Given the description of an element on the screen output the (x, y) to click on. 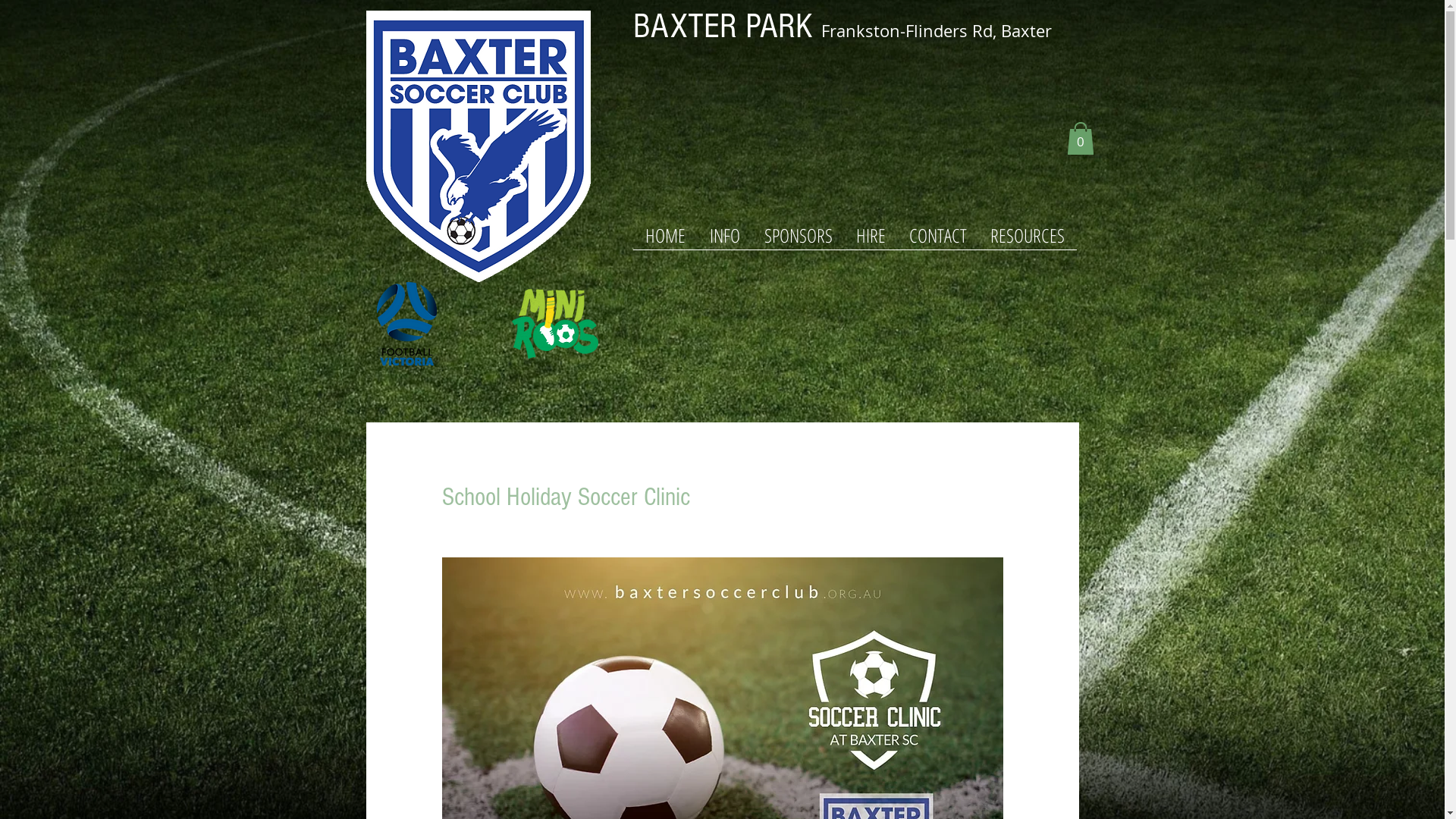
INFO Element type: text (724, 239)
HOME Element type: text (664, 239)
0 Element type: text (1079, 138)
Google Maps Element type: hover (854, 127)
HIRE Element type: text (870, 239)
RESOURCES Element type: text (1027, 239)
CONTACT Element type: text (938, 239)
SPONSORS Element type: text (798, 239)
